Given the description of an element on the screen output the (x, y) to click on. 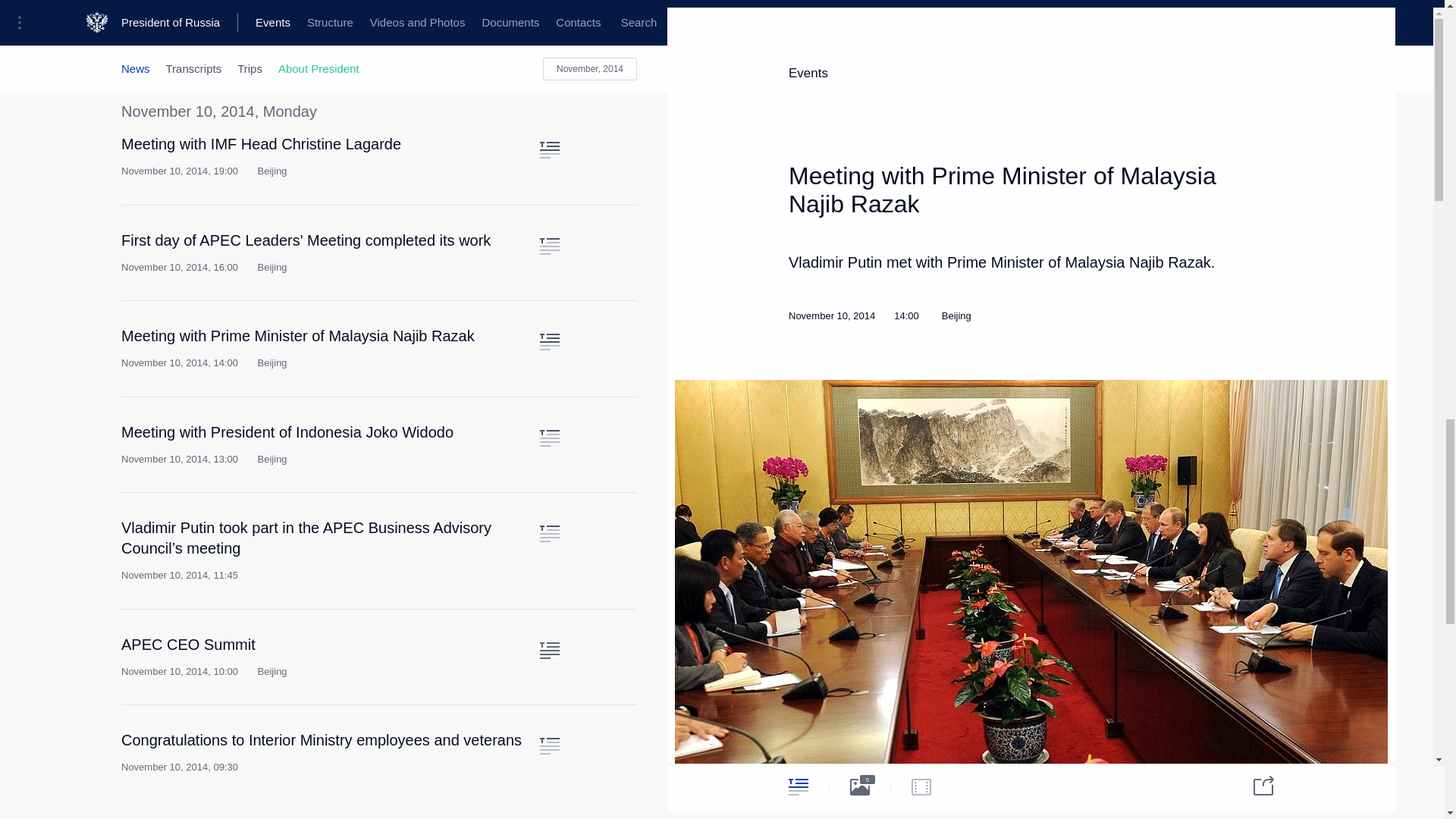
Text of the article (549, 246)
Text of the article (549, 4)
Text of the article (549, 149)
